Given the description of an element on the screen output the (x, y) to click on. 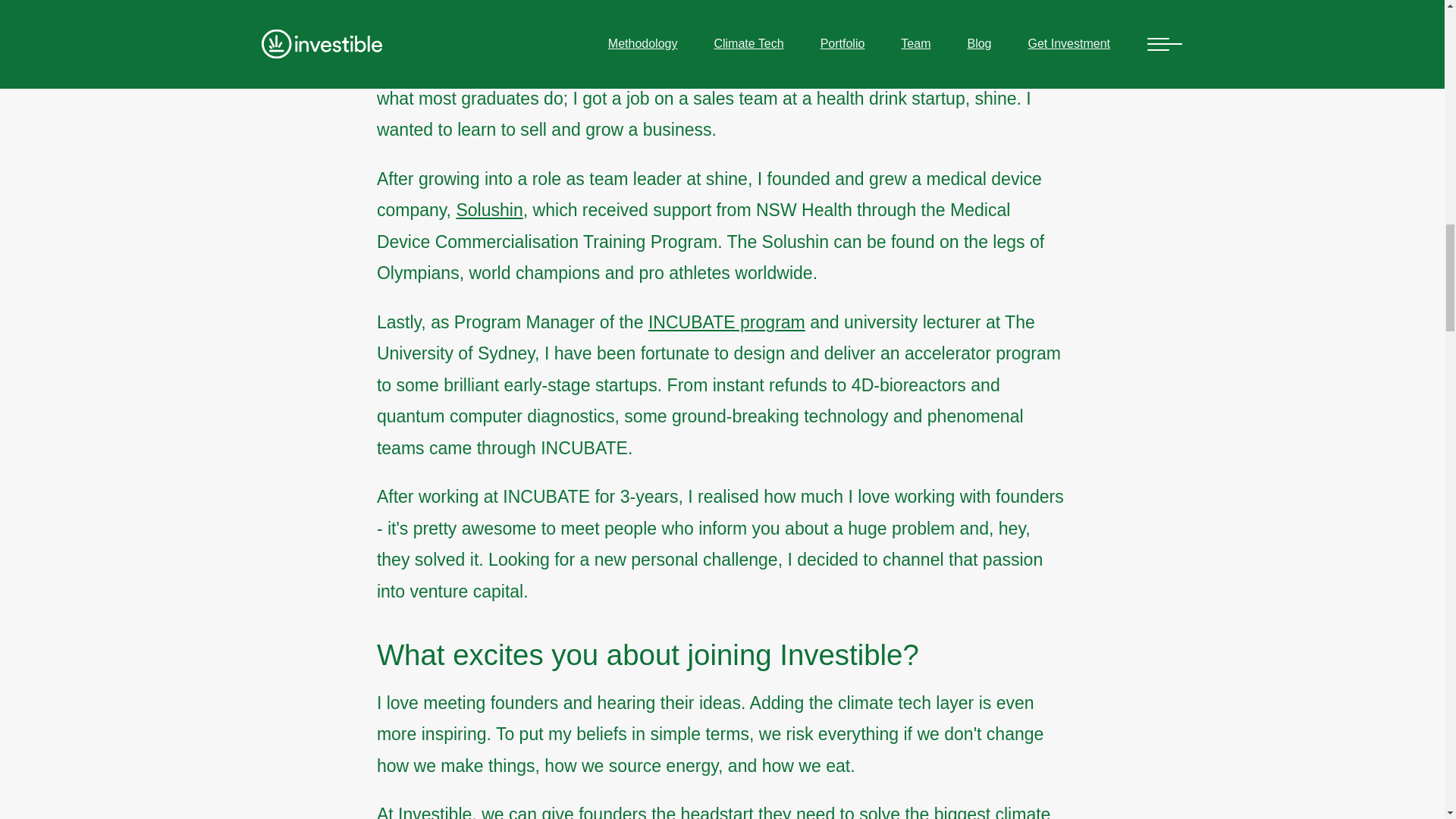
Solushin (488, 209)
the headstart (701, 811)
INCUBATE program (726, 322)
